Given the description of an element on the screen output the (x, y) to click on. 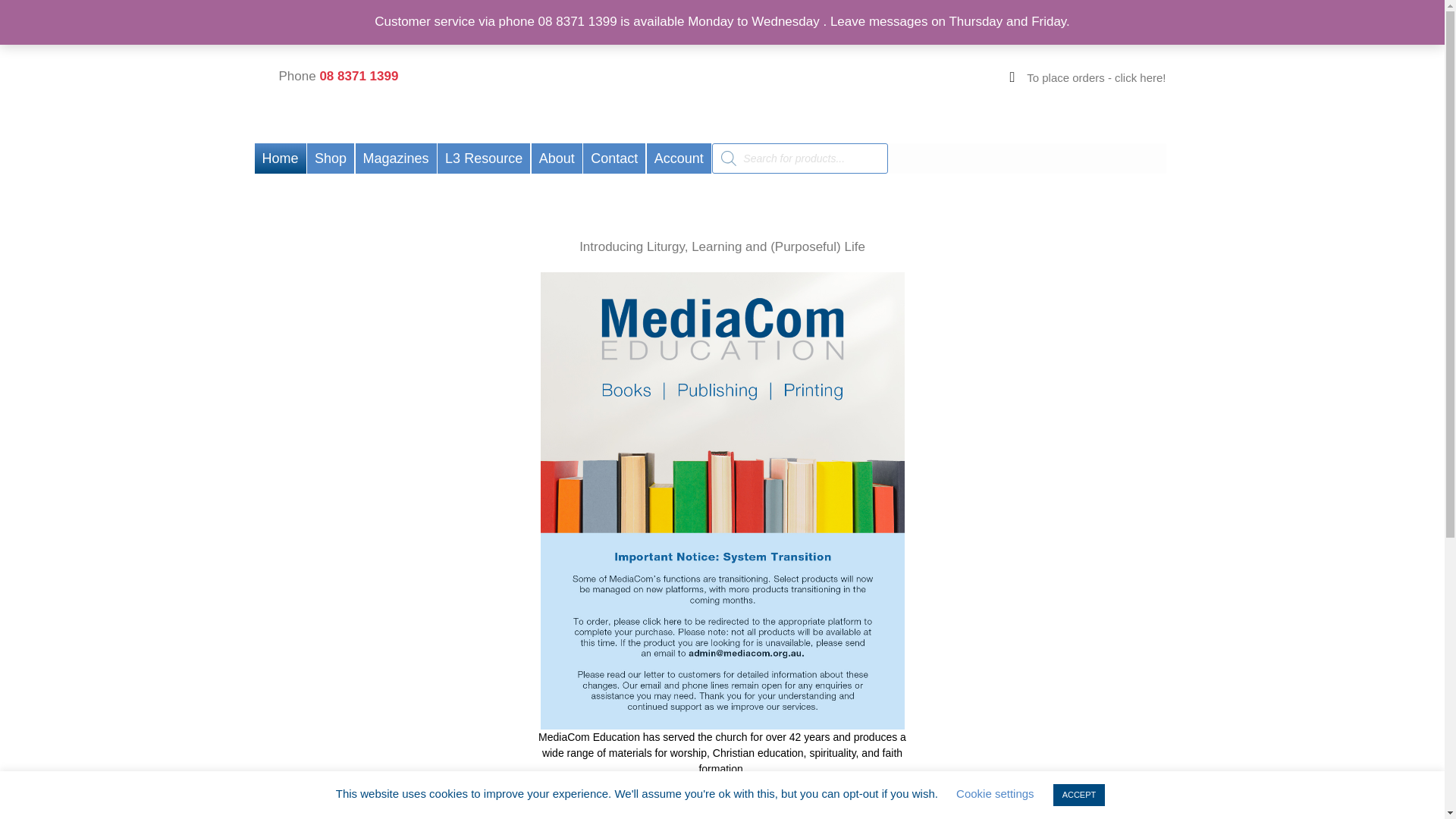
Home (279, 158)
ACCEPT (1078, 794)
Cookie settings (994, 793)
08 8371 1399 (357, 75)
Shop (330, 158)
To place orders - click here! (1084, 77)
About (556, 158)
Account (678, 158)
Contact (614, 158)
L3 Resource (483, 158)
Magazines (395, 158)
